Given the description of an element on the screen output the (x, y) to click on. 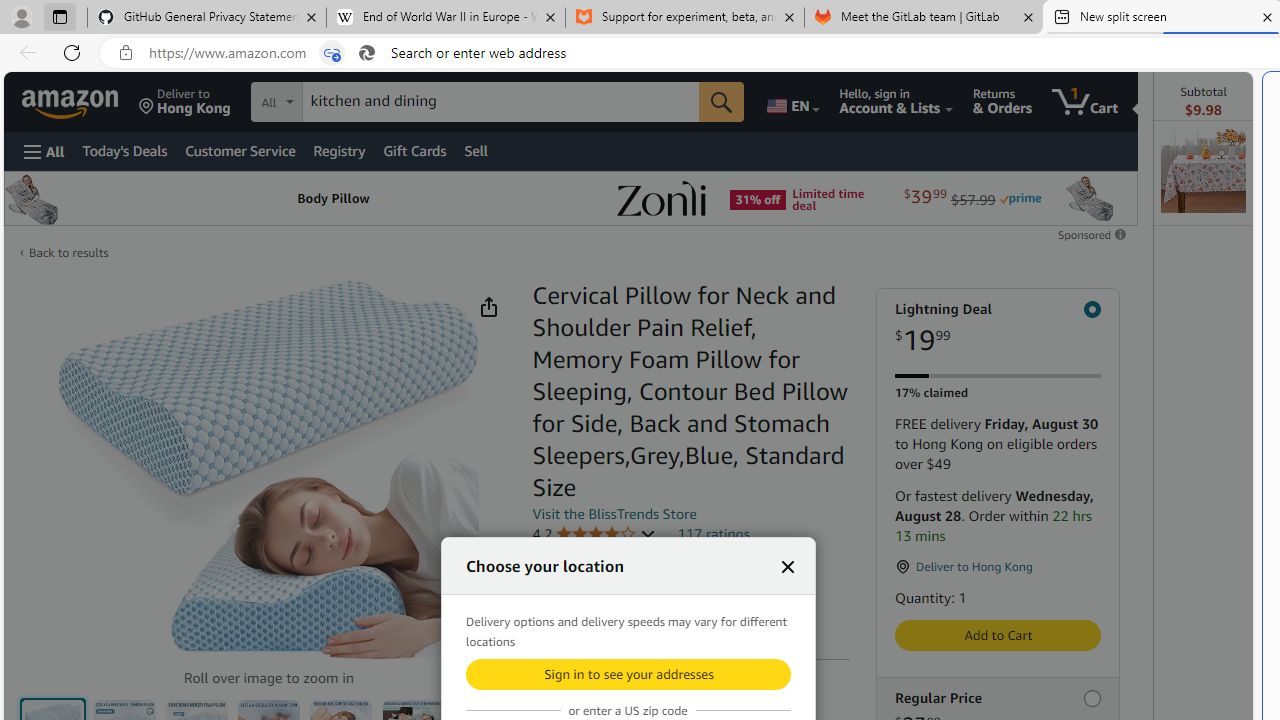
Skip to main content (86, 100)
117 ratings (713, 533)
Tabs in split screen (331, 53)
Share (489, 307)
Customer Service (240, 150)
Open Menu (44, 151)
Back to results (68, 252)
Prime (1019, 198)
Add to Cart (997, 635)
Registry (339, 150)
Search in (350, 102)
